Given the description of an element on the screen output the (x, y) to click on. 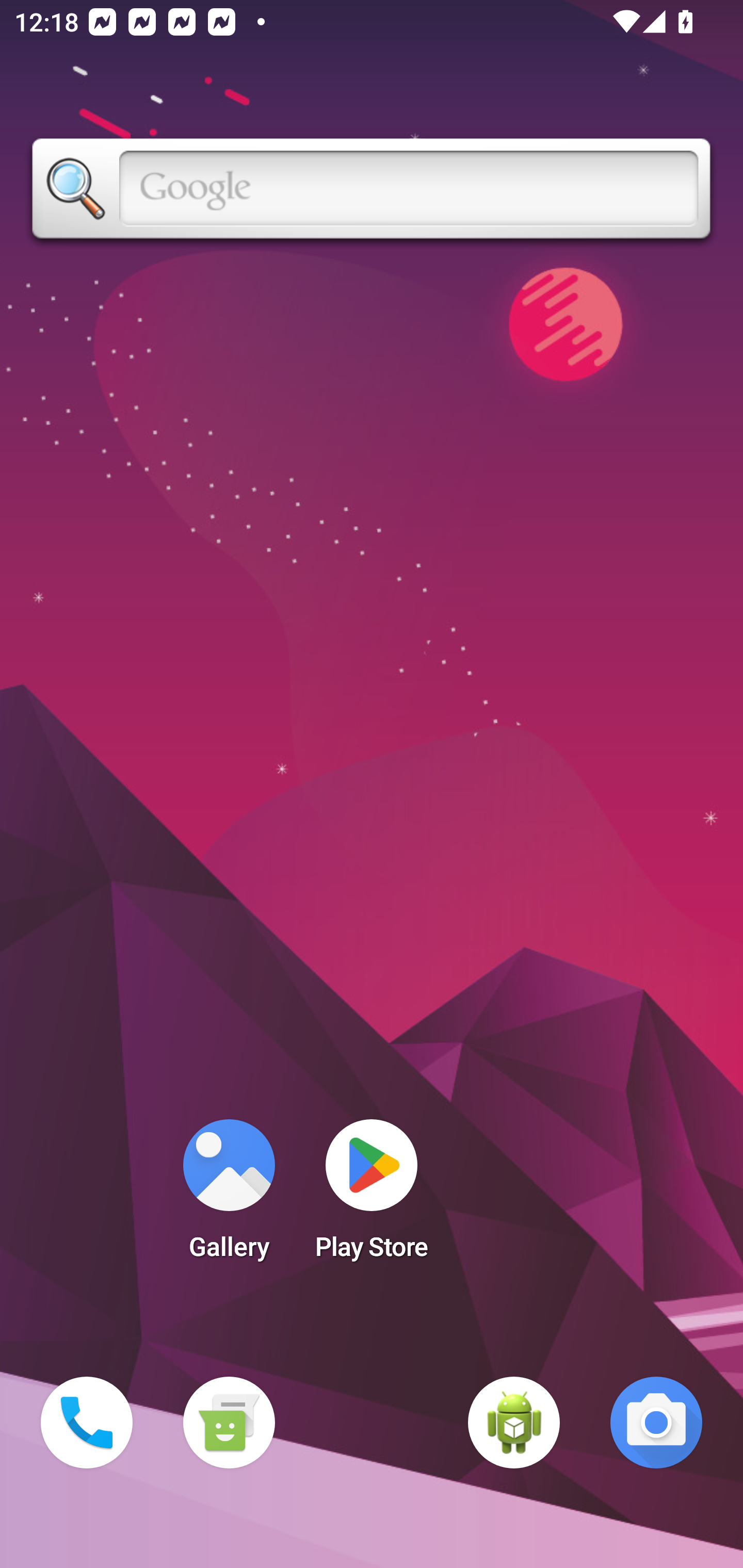
Gallery (228, 1195)
Play Store (371, 1195)
Phone (86, 1422)
Messaging (228, 1422)
WebView Browser Tester (513, 1422)
Camera (656, 1422)
